Given the description of an element on the screen output the (x, y) to click on. 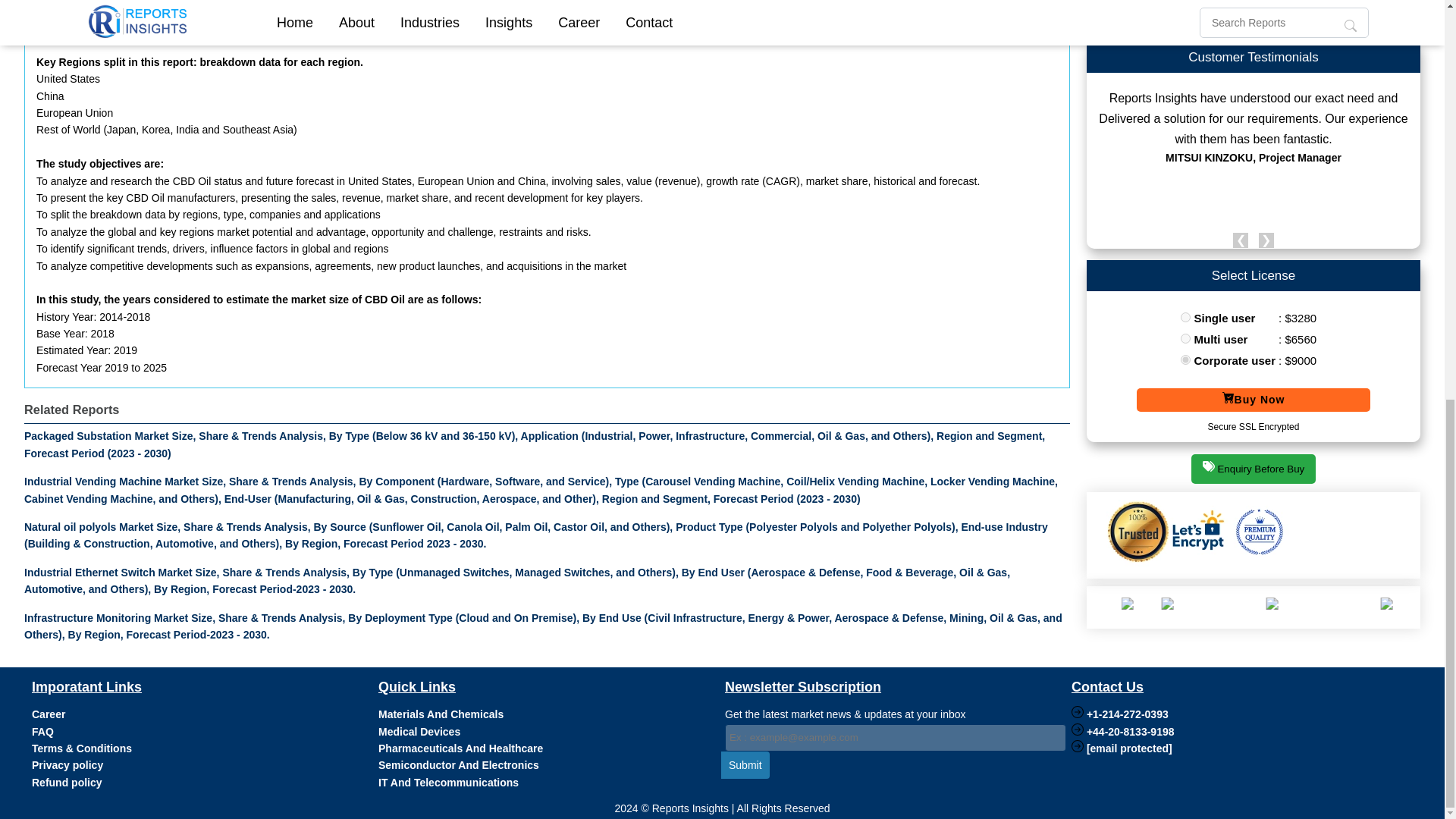
on (1185, 359)
on (1185, 317)
on (1185, 338)
